Given the description of an element on the screen output the (x, y) to click on. 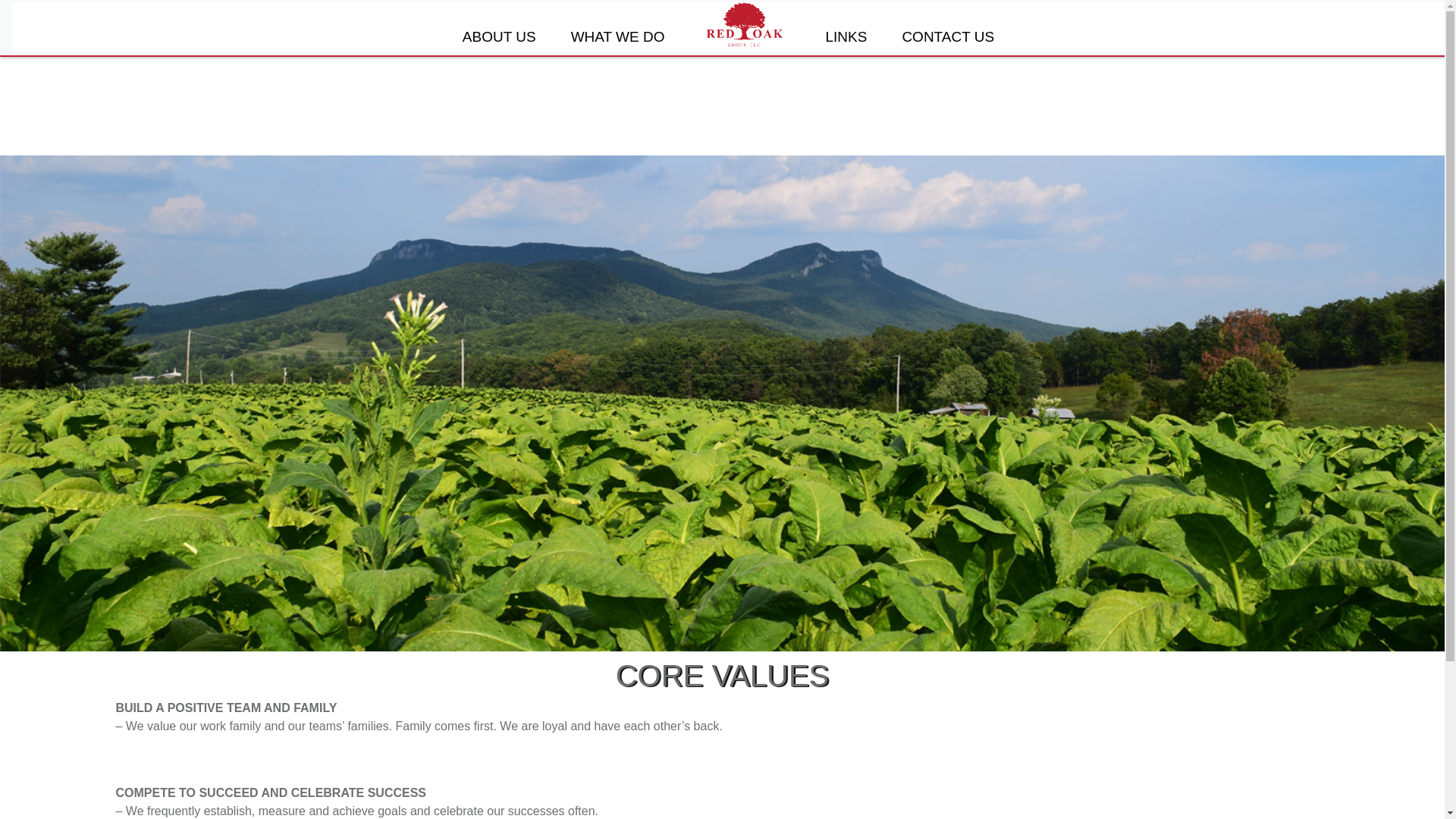
Home (744, 23)
About Us (499, 36)
What We Do (617, 36)
CONTACT US (947, 36)
LINKS (845, 36)
WHAT WE DO (617, 36)
Links (845, 36)
ABOUT US (499, 36)
HOME (744, 23)
Contact Us (947, 36)
